Given the description of an element on the screen output the (x, y) to click on. 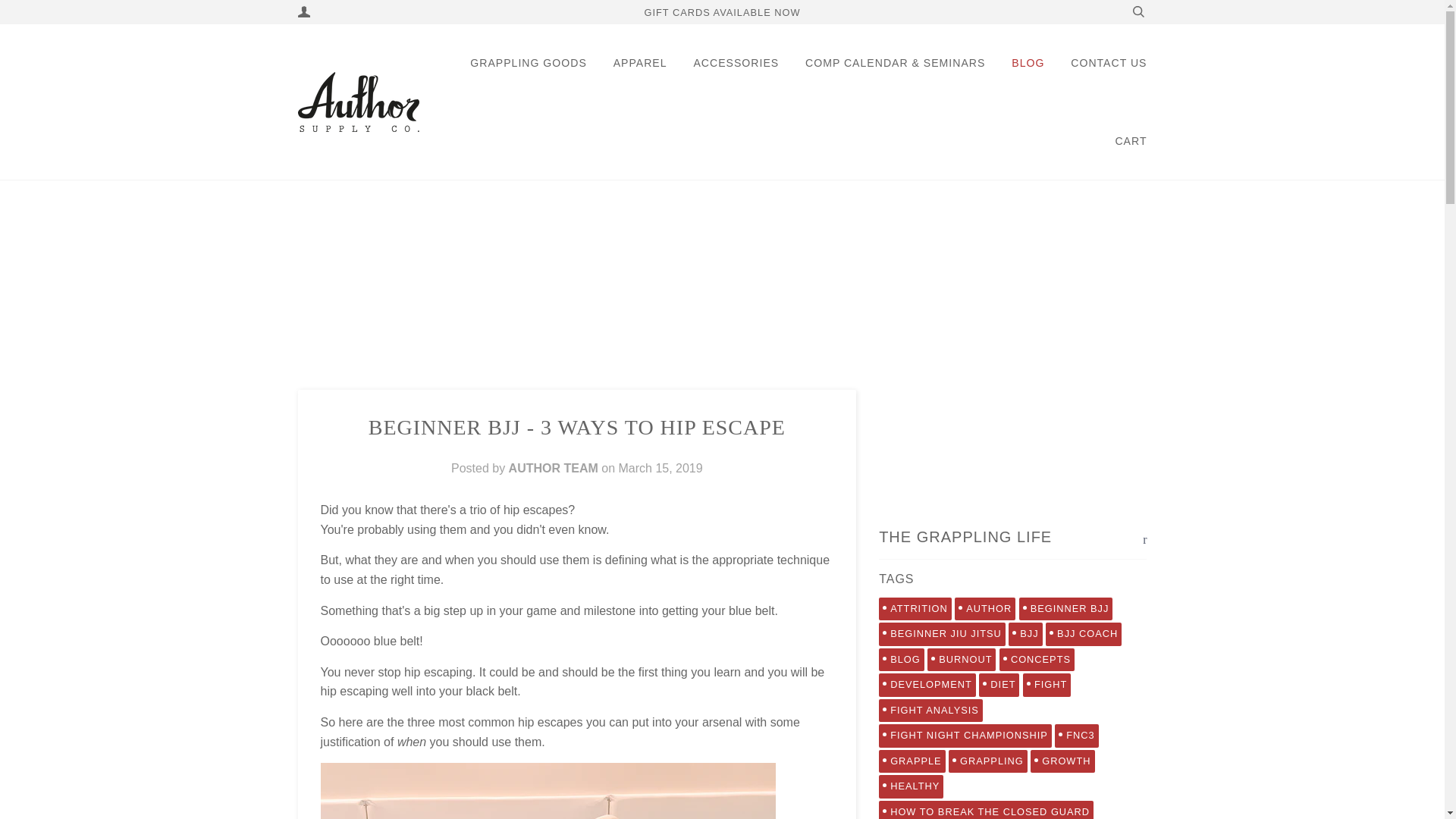
ACCESSORIES (735, 63)
CONTACT US (1108, 63)
GIFT CARDS AVAILABLE NOW (721, 12)
GRAPPLING GOODS (528, 63)
